Given the description of an element on the screen output the (x, y) to click on. 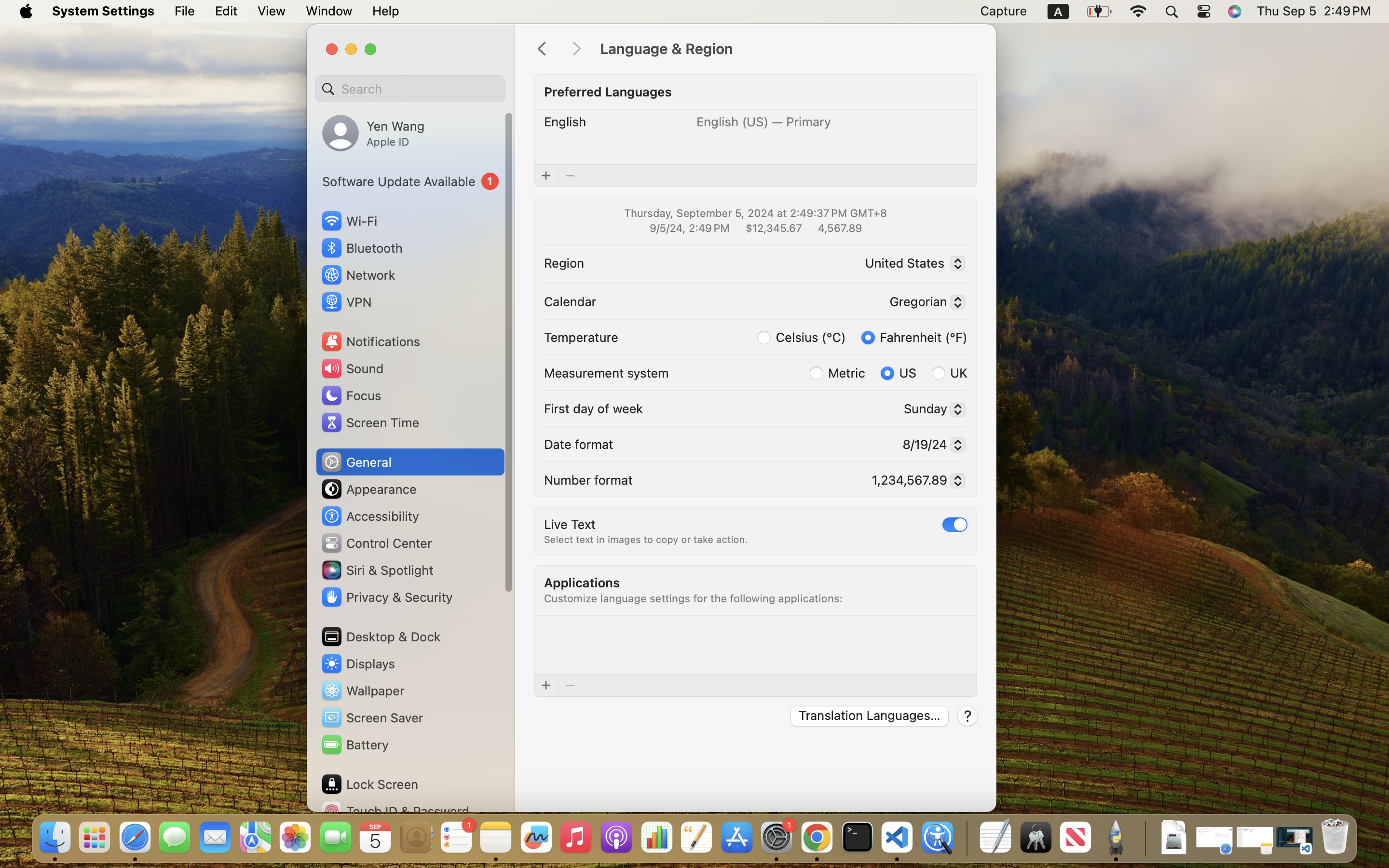
$12,345.67 Element type: AXStaticText (772, 227)
Thursday, September 5, 2024 at 2:49:37 PM GMT+8 Element type: AXStaticText (755, 212)
United States Element type: AXPopUpButton (912, 264)
VPN Element type: AXStaticText (345, 301)
Desktop & Dock Element type: AXStaticText (380, 636)
